Given the description of an element on the screen output the (x, y) to click on. 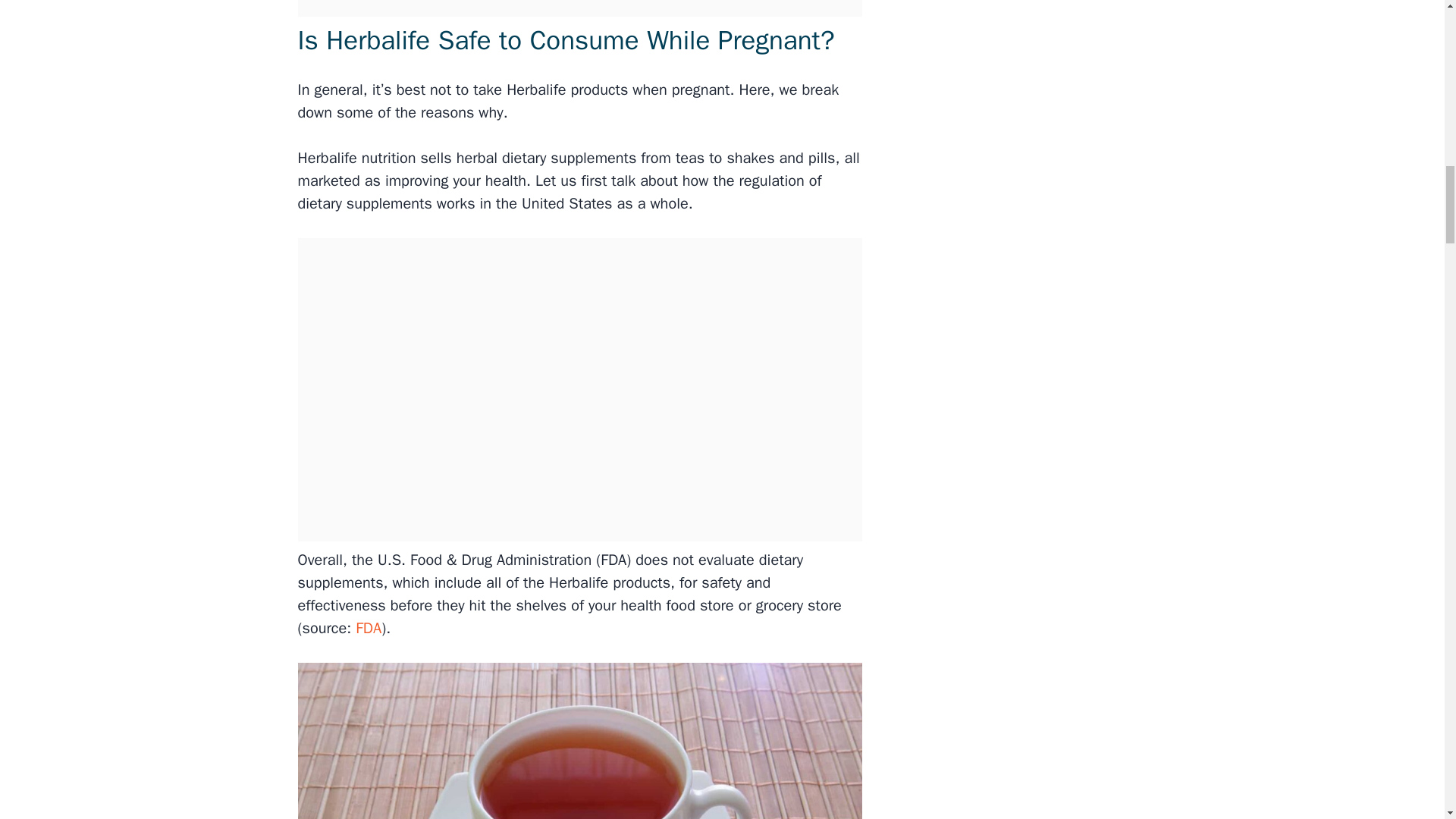
FDA (365, 628)
